Given the description of an element on the screen output the (x, y) to click on. 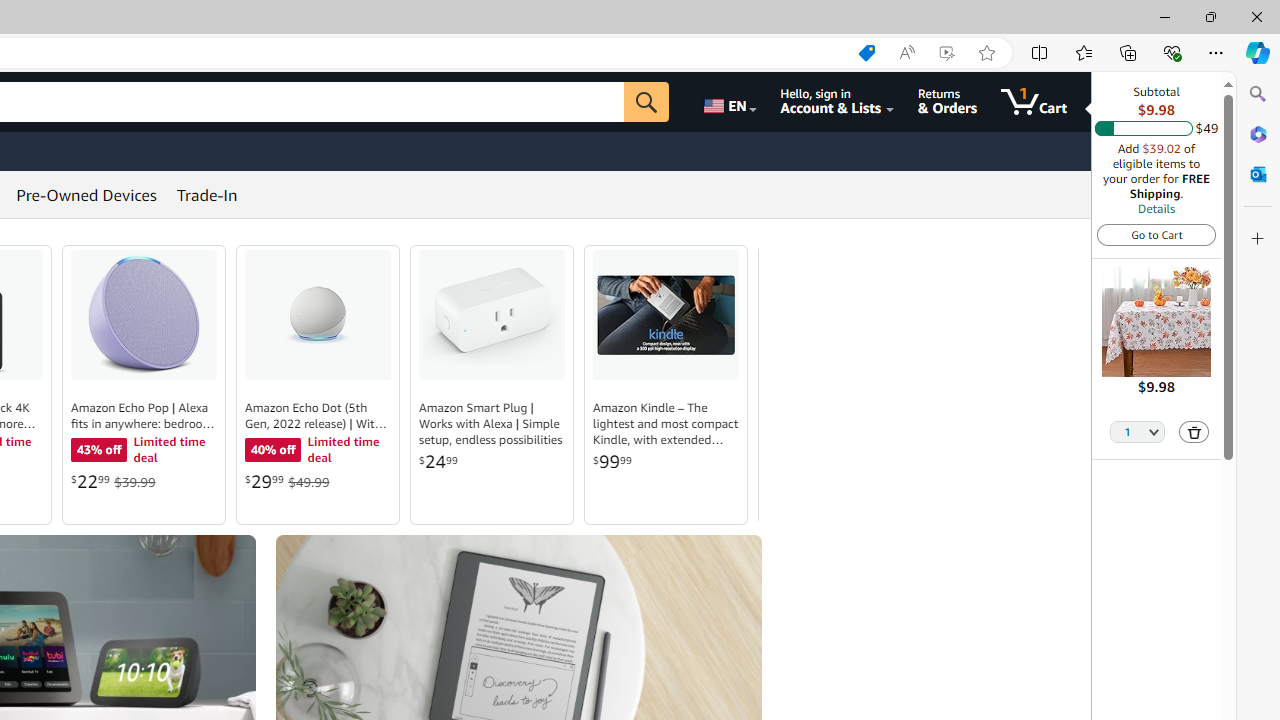
Hello, sign in Account & Lists (836, 101)
Delete (1194, 431)
Details (1156, 208)
Trade-In (207, 194)
1 item in cart (1034, 101)
